Given the description of an element on the screen output the (x, y) to click on. 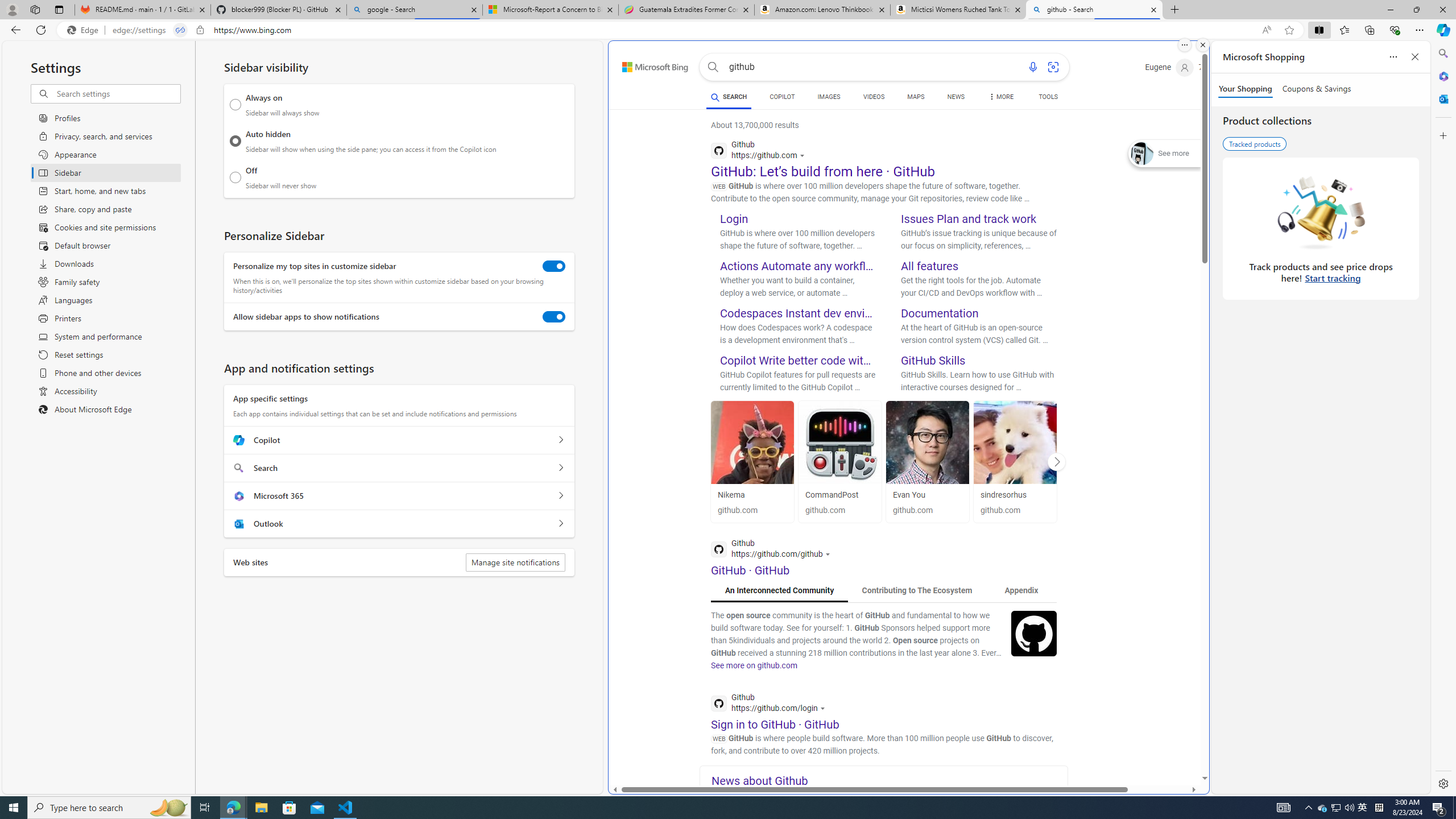
MORE (1000, 98)
Back to Bing search (648, 64)
SEARCH (728, 96)
Allow sidebar apps to show notifications (553, 316)
Contributing to The Ecosystem (916, 590)
Login (734, 218)
